Given the description of an element on the screen output the (x, y) to click on. 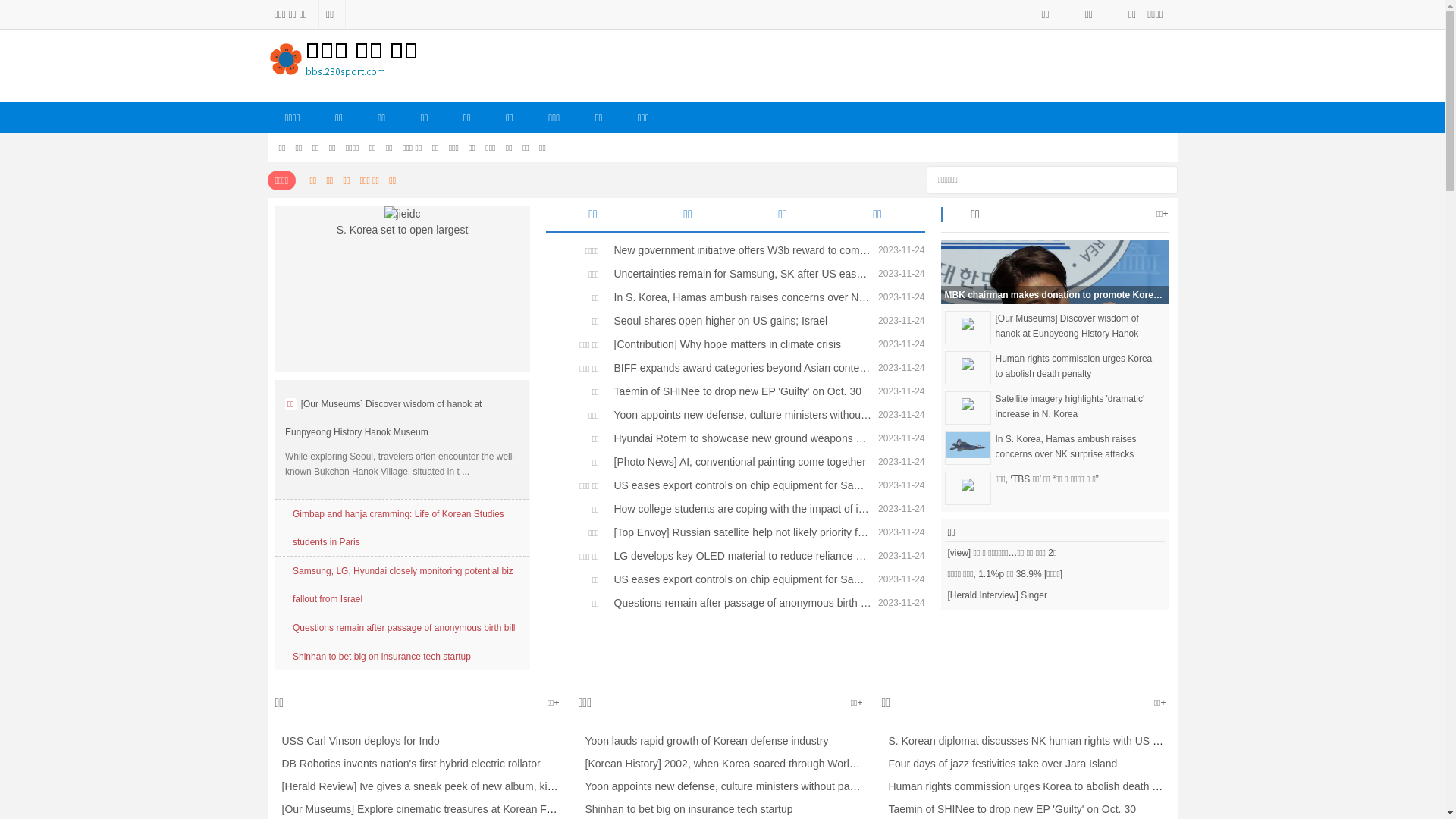
[Korean History] 2002, when Korea soared through World Cup Element type: text (727, 763)
S. Korea set to open largest Element type: text (401, 222)
[Herald Interview] Singer Element type: text (1053, 594)
Shinhan to bet big on insurance tech startup Element type: text (381, 656)
Human rights commission urges Korea to abolish death penalty Element type: text (1075, 366)
USS Carl Vinson deploys for Indo Element type: text (356, 740)
Questions remain after passage of anonymous birth bill Element type: text (739, 602)
Questions remain after passage of anonymous birth bill Element type: text (403, 627)
S. Korean diplomat discusses NK human rights with US envoy Element type: text (1030, 740)
  Element type: text (1159, 176)
Seoul shares open higher on US gains; Israel Element type: text (739, 320)
[Photo News] AI, conventional painting come together Element type: text (739, 461)
Four days of jazz festivities take over Jara Island Element type: text (999, 763)
Shinhan to bet big on insurance tech startup Element type: text (684, 809)
Human rights commission urges Korea to abolish death penalty Element type: text (1033, 786)
Satellite imagery highlights  Element type: hover (967, 403)
Taemin of SHINee to drop new EP 'Guilty' on Oct. 30 Element type: text (739, 390)
Human rights commission urges Korea to abolish death penalty Element type: hover (967, 363)
[Contribution] Why hope matters in climate crisis Element type: text (739, 343)
Taemin of SHINee to drop new EP 'Guilty' on Oct. 30 Element type: text (1008, 809)
DB Robotics invents nation's first hybrid electric rollator Element type: text (406, 763)
Satellite imagery highlights 'dramatic' increase in N. Korea Element type: text (1075, 406)
Yoon lauds rapid growth of Korean defense industry Element type: text (702, 740)
LG develops key OLED material to reduce reliance on imports Element type: text (739, 555)
How college students are coping with the impact of inflation Element type: text (739, 508)
